Given the description of an element on the screen output the (x, y) to click on. 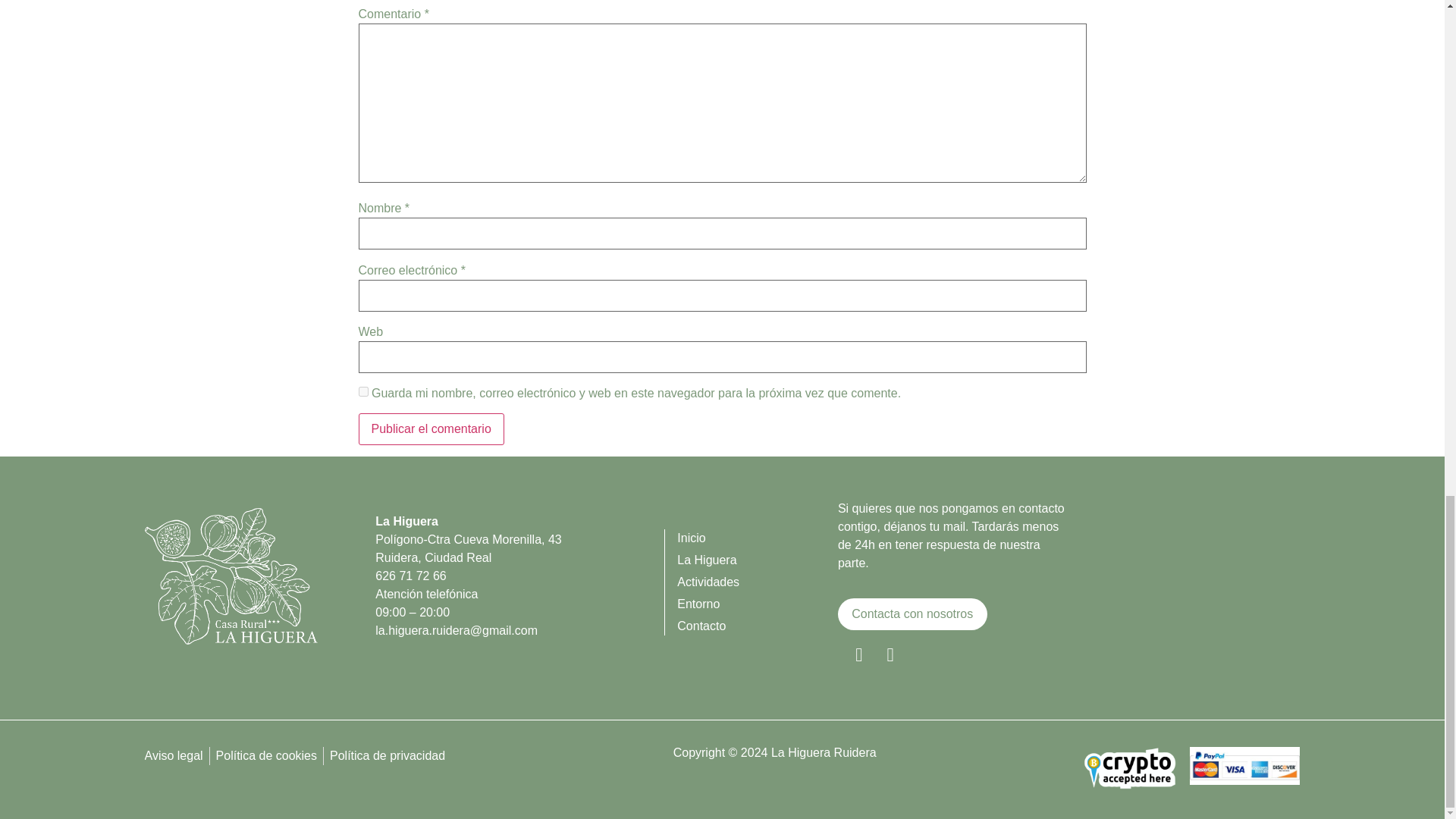
yes (363, 391)
Aviso legal (173, 755)
La Higuera (757, 560)
Actividades (757, 582)
Publicar el comentario (430, 429)
Contacta con nosotros (912, 613)
Inicio (757, 538)
Publicar el comentario (430, 429)
Contacto (757, 626)
Entorno (757, 604)
